Given the description of an element on the screen output the (x, y) to click on. 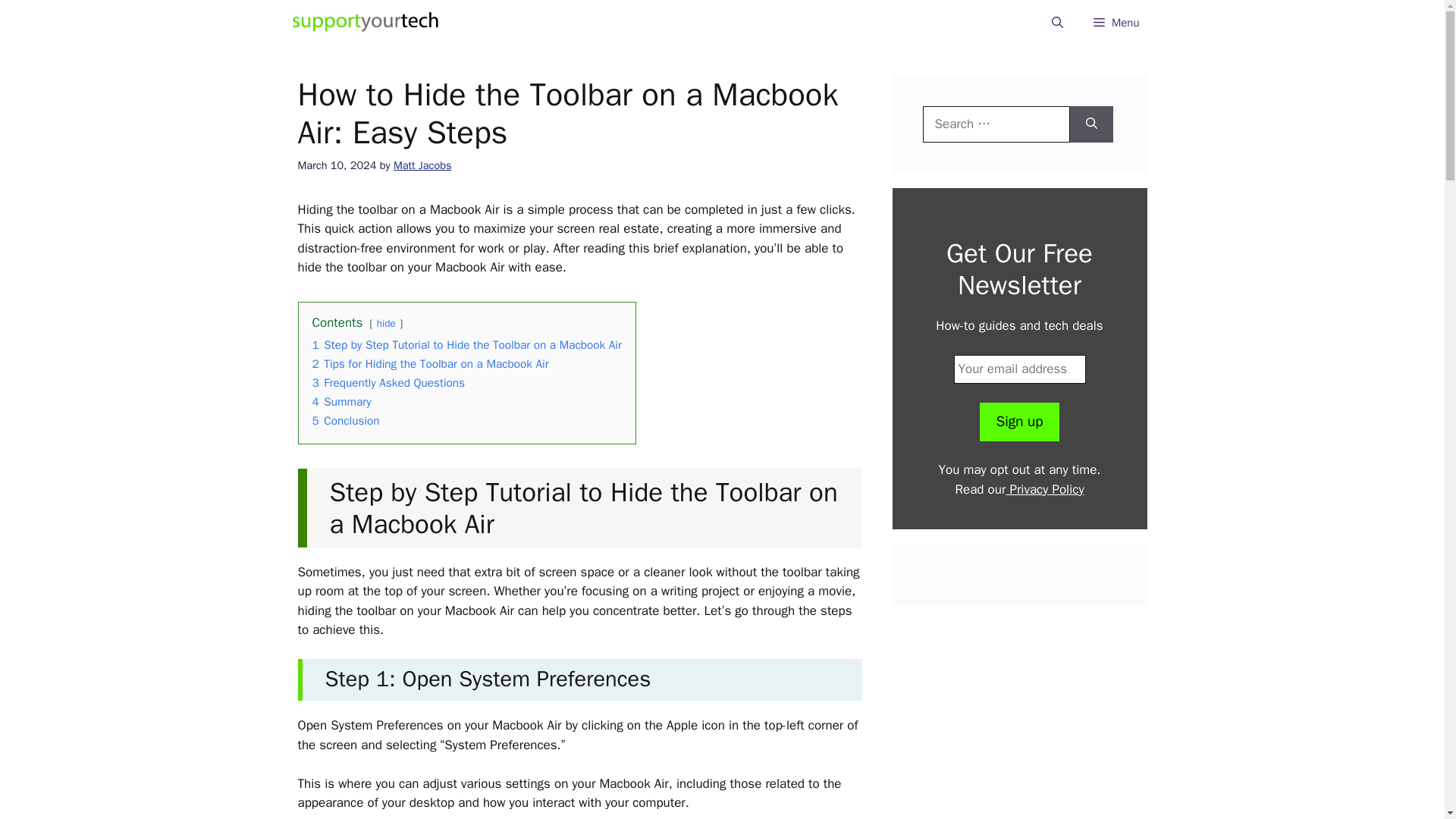
Sign up (1018, 421)
Matt Jacobs (422, 164)
1 Step by Step Tutorial to Hide the Toolbar on a Macbook Air (467, 344)
hide (386, 323)
3 Frequently Asked Questions (389, 382)
Support Your Tech (365, 22)
Menu (1116, 22)
2 Tips for Hiding the Toolbar on a Macbook Air (430, 363)
4 Summary (342, 401)
5 Conclusion (346, 420)
